Given the description of an element on the screen output the (x, y) to click on. 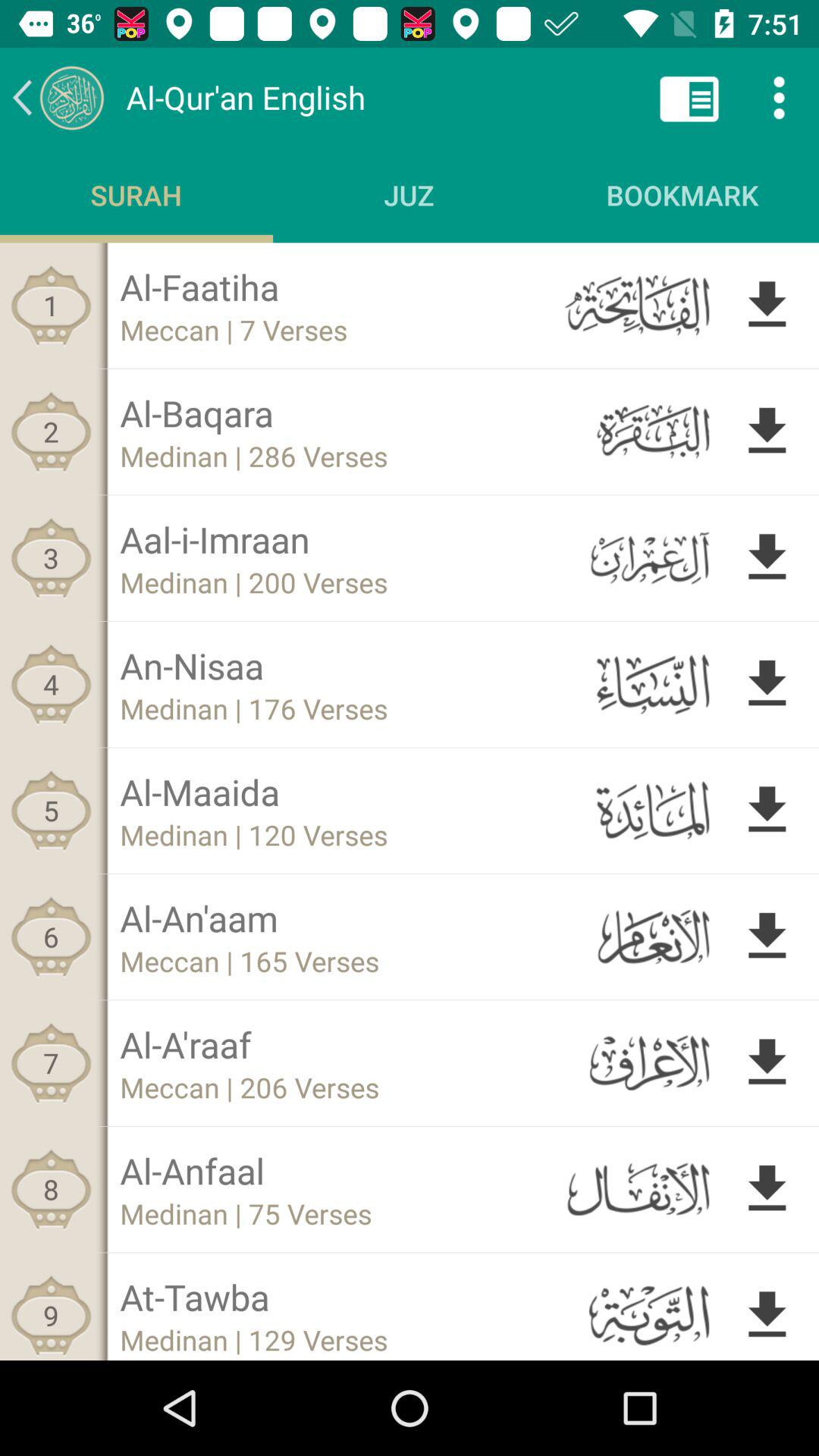
click to download (767, 1062)
